Given the description of an element on the screen output the (x, y) to click on. 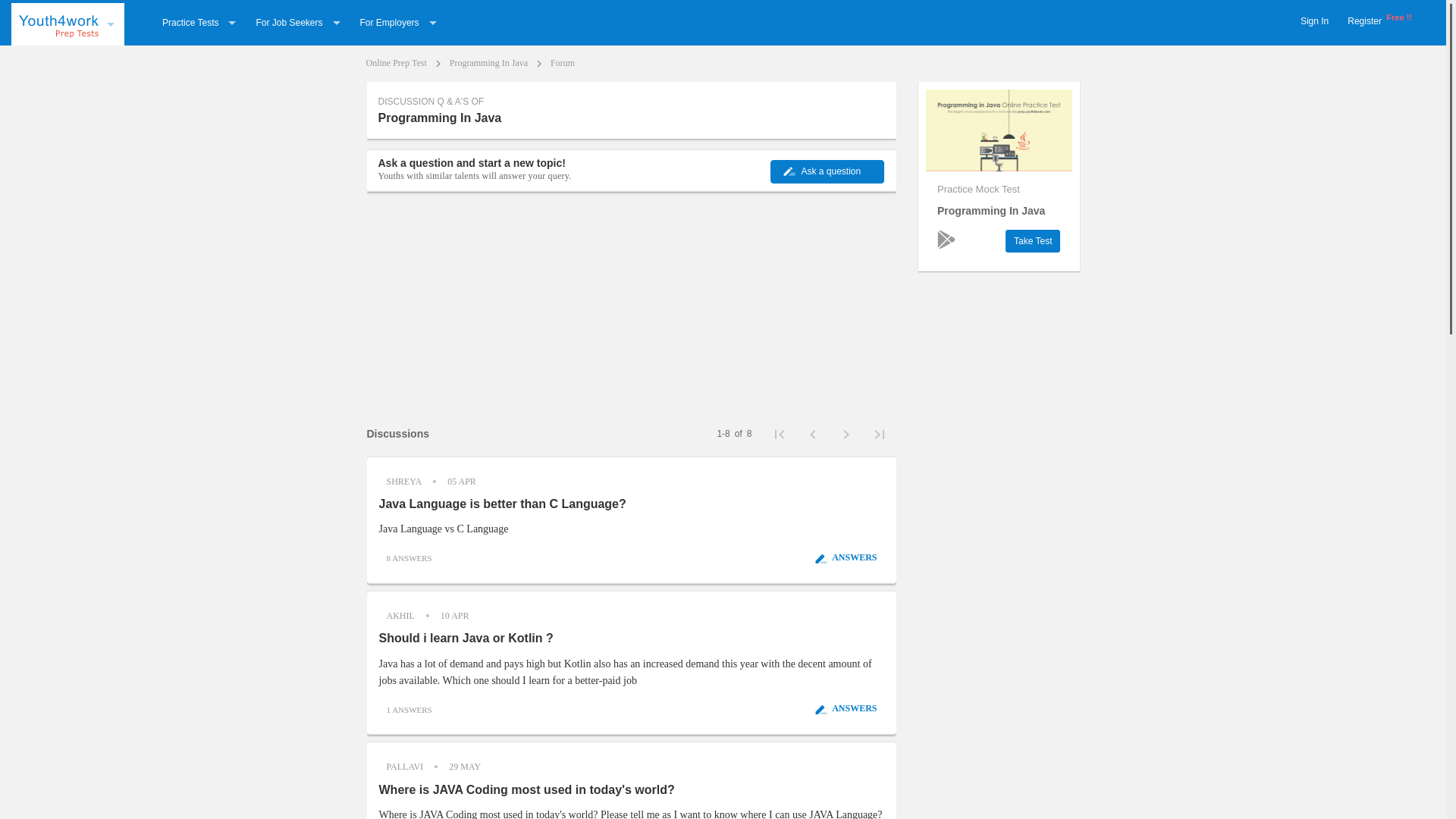
Sign In (1314, 21)
Advertisement (631, 305)
For Employers (398, 22)
For Job Seekers (297, 22)
Practice Tests (199, 22)
Last (879, 434)
Shreya Gupta (403, 481)
First (779, 434)
Download Android mock paper app (946, 238)
Register  Free !! (1379, 21)
